Given the description of an element on the screen output the (x, y) to click on. 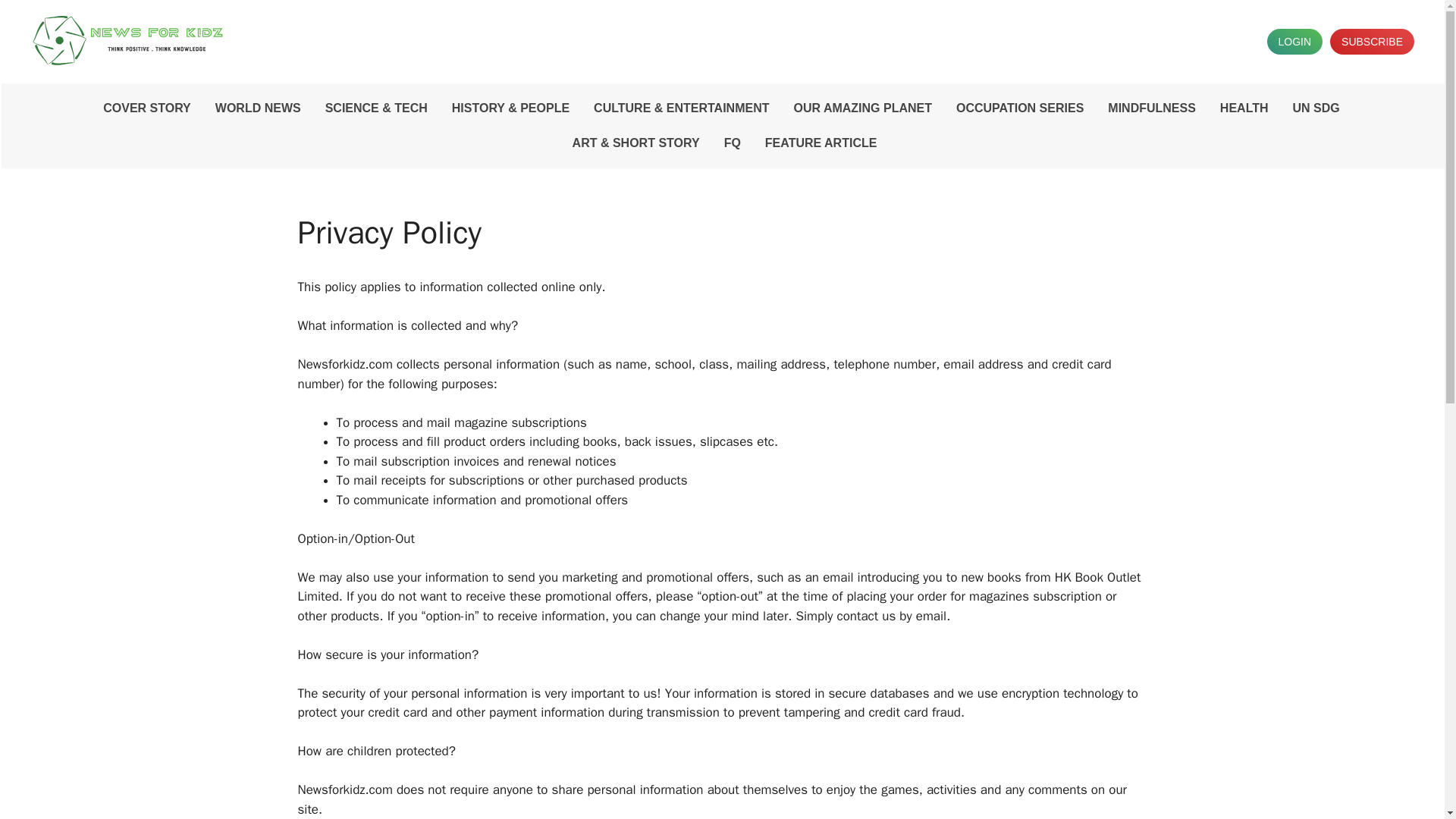
OCCUPATION SERIES (1020, 108)
HEALTH (1244, 108)
MINDFULNESS (1152, 108)
UN SDG (1316, 108)
SUBSCRIBE (1371, 41)
FQ (731, 143)
WORLD NEWS (258, 108)
FEATURE ARTICLE (820, 143)
OUR AMAZING PLANET (862, 108)
LOGIN (1294, 41)
COVER STORY (147, 108)
